Given the description of an element on the screen output the (x, y) to click on. 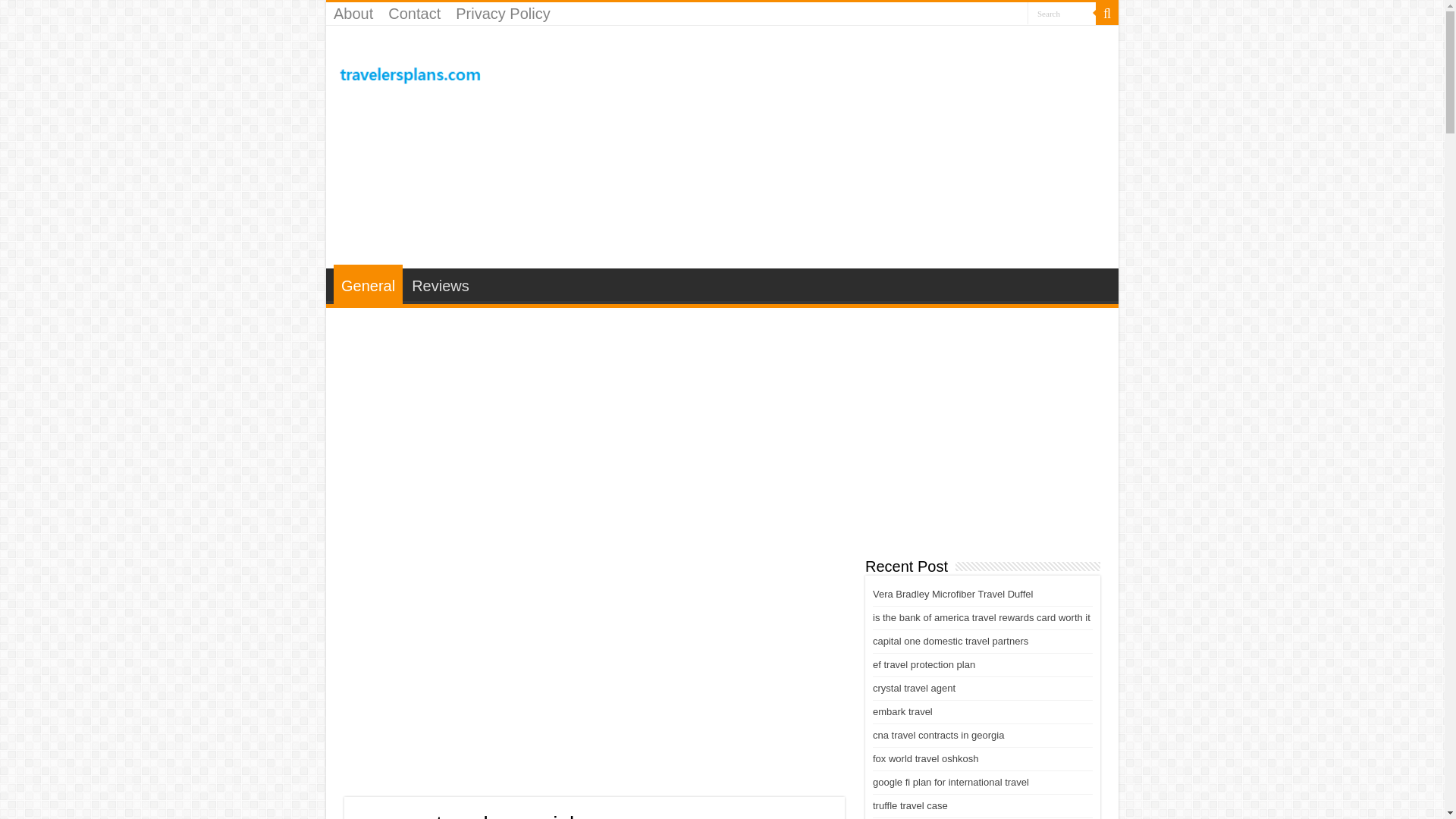
Search (1061, 13)
fox world travel oshkosh (925, 758)
Search (1061, 13)
Contact (414, 13)
Reviews (440, 284)
ef travel protection plan (923, 664)
Search (1107, 13)
google fi plan for international travel (950, 781)
truffle travel case (909, 805)
